Given the description of an element on the screen output the (x, y) to click on. 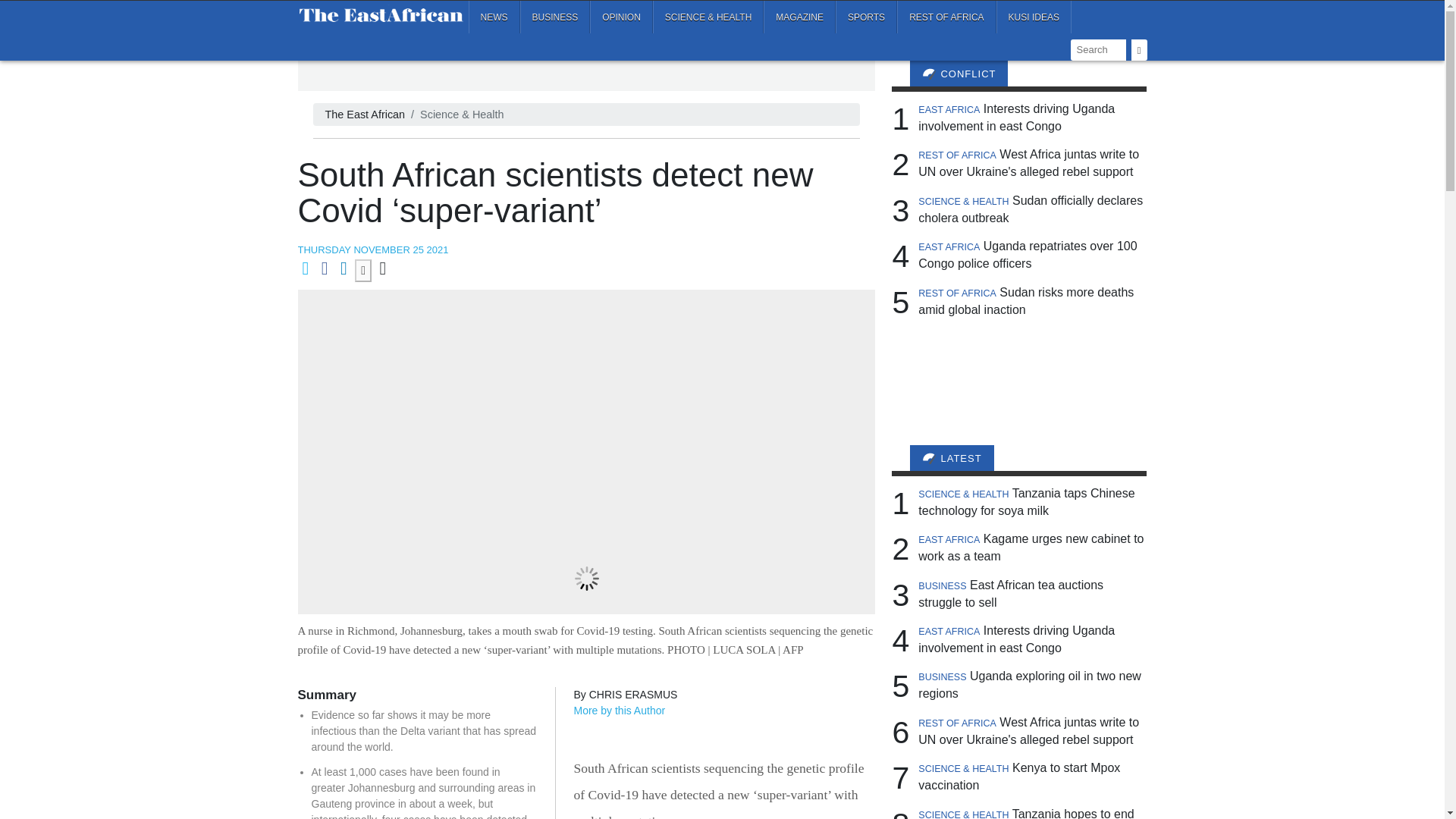
BUSINESS (555, 16)
NEWS (493, 16)
SPORTS (865, 16)
MAGAZINE (798, 16)
OPINION (620, 16)
